Given the description of an element on the screen output the (x, y) to click on. 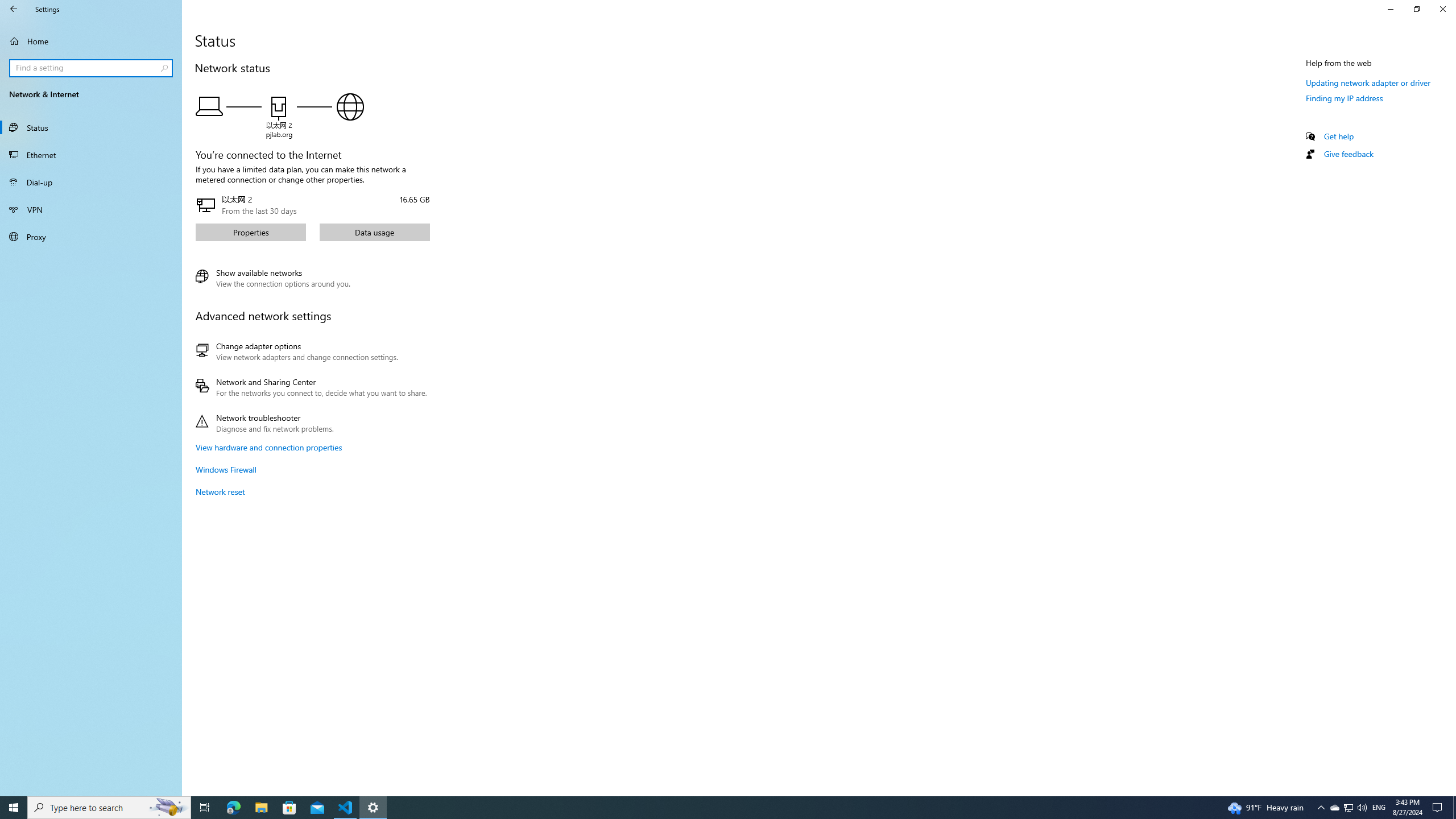
Updating network adapter or driver (1368, 82)
Dial-up (91, 181)
Proxy (91, 236)
Change adapter options (311, 351)
View hardware and connection properties (268, 447)
Windows Firewall (226, 469)
